Given the description of an element on the screen output the (x, y) to click on. 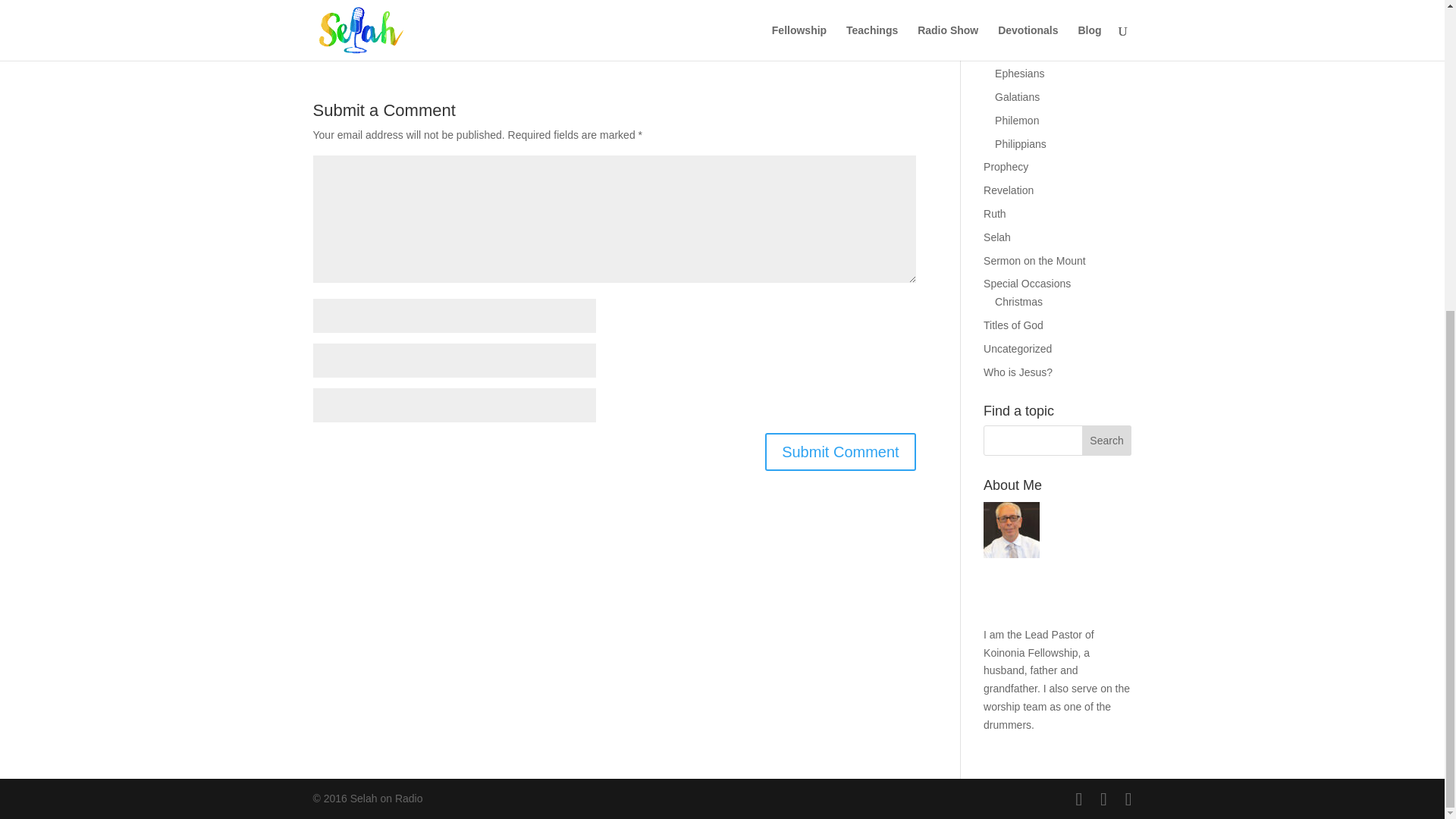
Colossians (1020, 50)
Revelation (1008, 190)
Search (1106, 440)
Prison Epistles (1019, 32)
Philemon (1016, 120)
Submit Comment (840, 451)
Ephesians (1018, 73)
Prophecy (1005, 166)
Submit Comment (840, 451)
Prayer (999, 9)
Galatians (1016, 96)
Philippians (1020, 143)
